Given the description of an element on the screen output the (x, y) to click on. 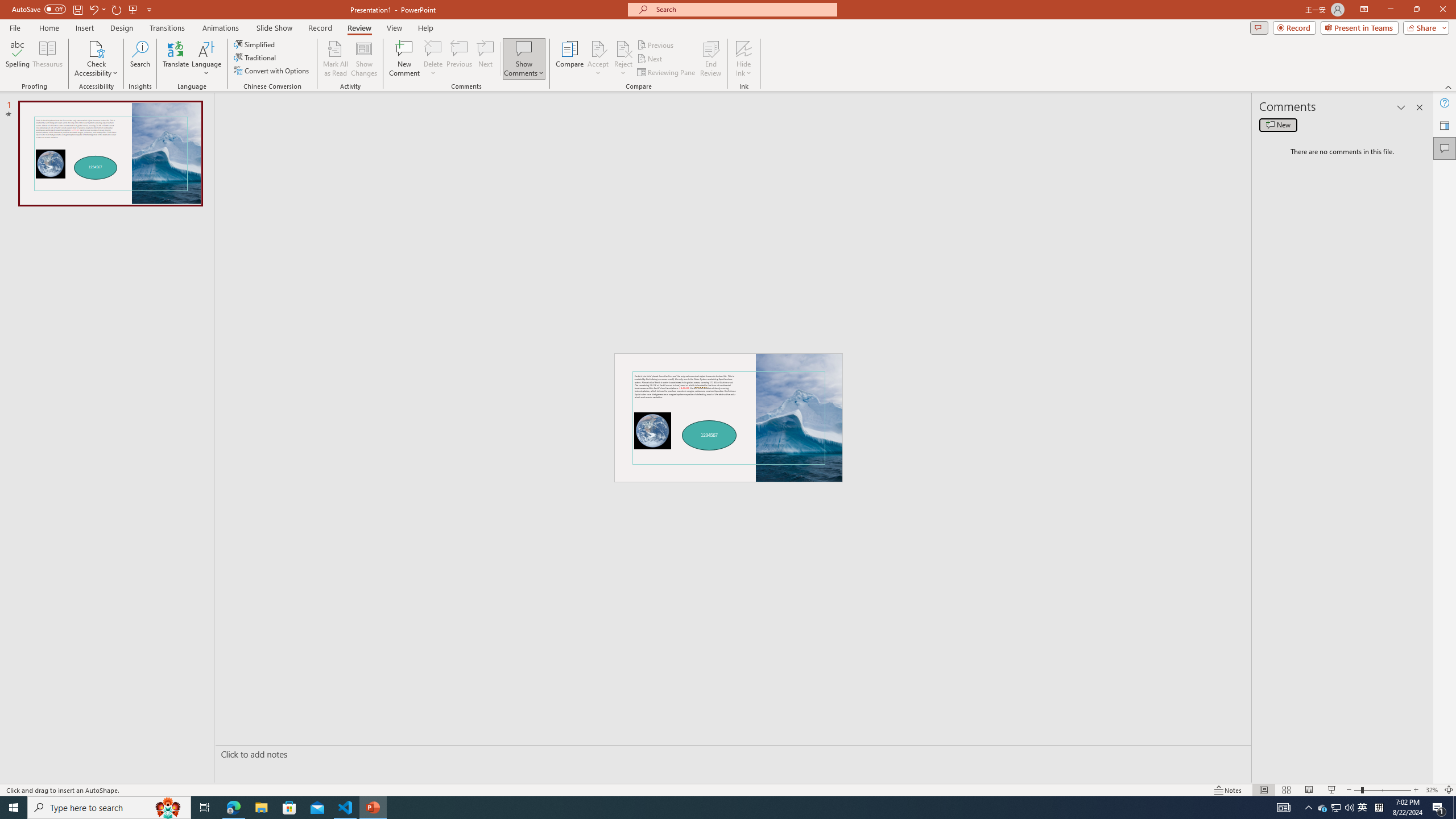
Feedback to Microsoft (1444, 125)
New comment (1278, 124)
